Given the description of an element on the screen output the (x, y) to click on. 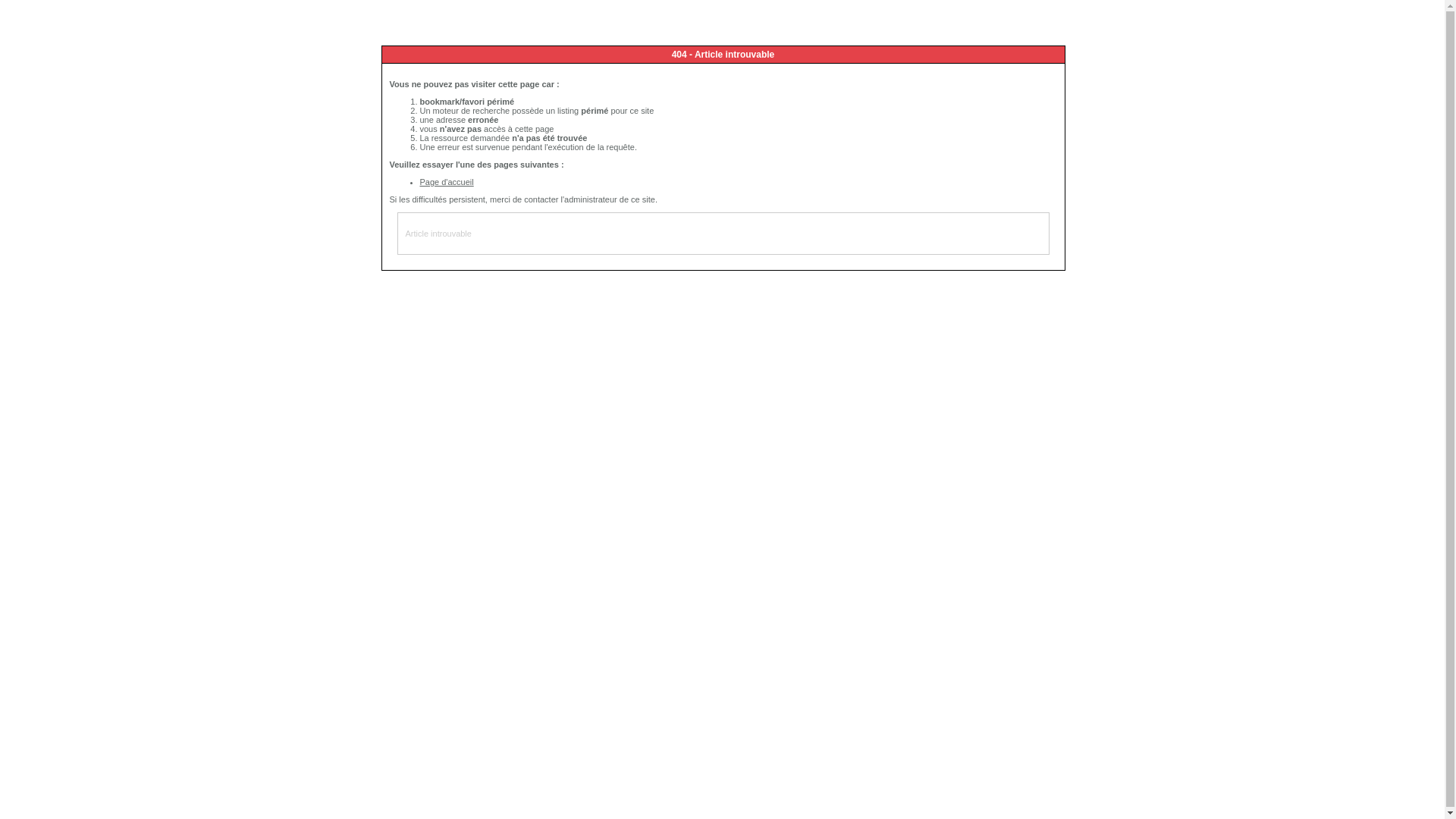
Page d'accueil Element type: text (446, 181)
